Given the description of an element on the screen output the (x, y) to click on. 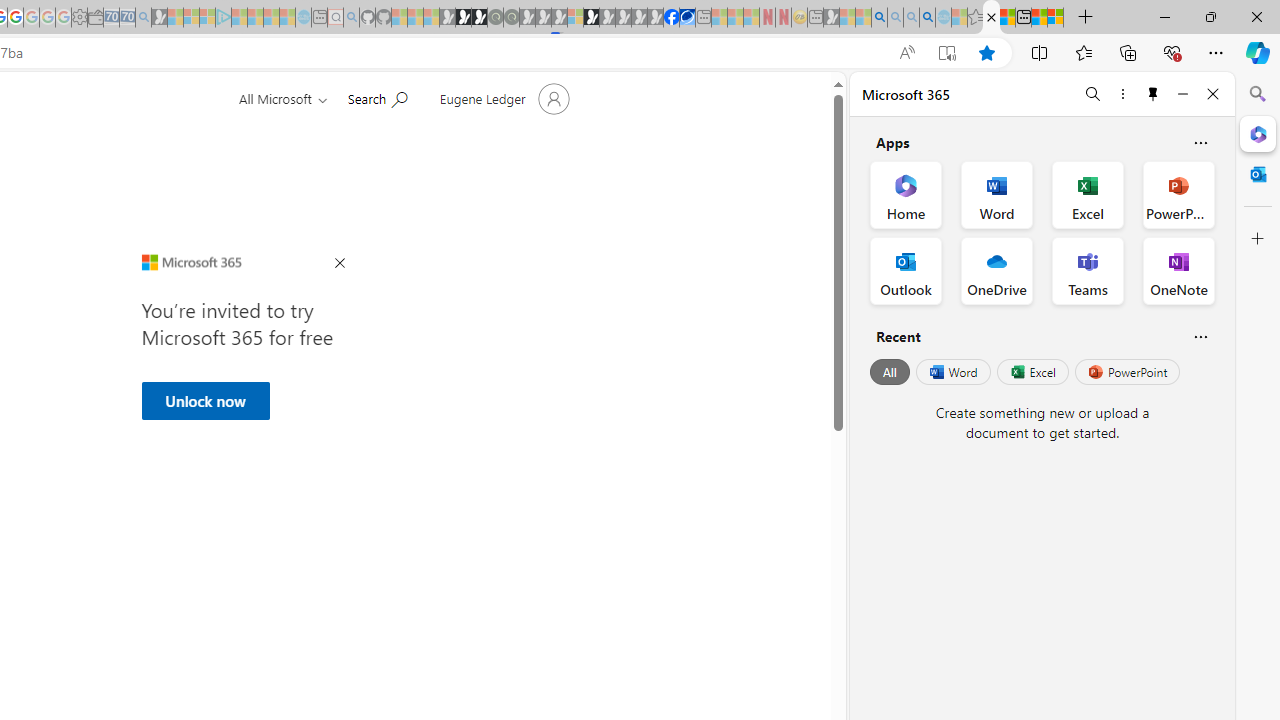
Search for help (377, 97)
Nordace | Facebook (671, 17)
AirNow.gov (687, 17)
Word (952, 372)
